Given the description of an element on the screen output the (x, y) to click on. 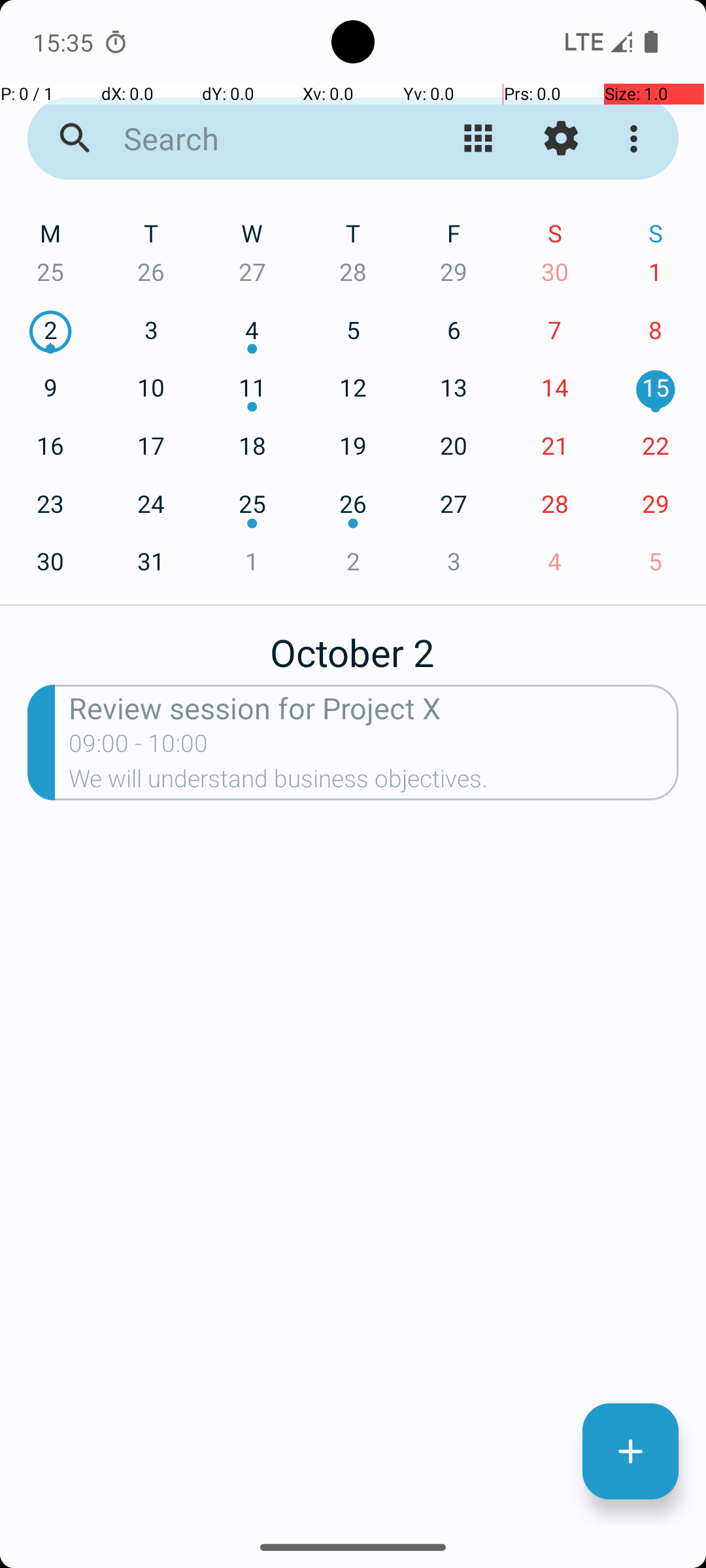
October 2 Element type: android.widget.TextView (352, 644)
Review session for Project X Element type: android.widget.TextView (373, 706)
09:00 - 10:00 Element type: android.widget.TextView (137, 747)
We will understand business objectives. Element type: android.widget.TextView (373, 782)
